Given the description of an element on the screen output the (x, y) to click on. 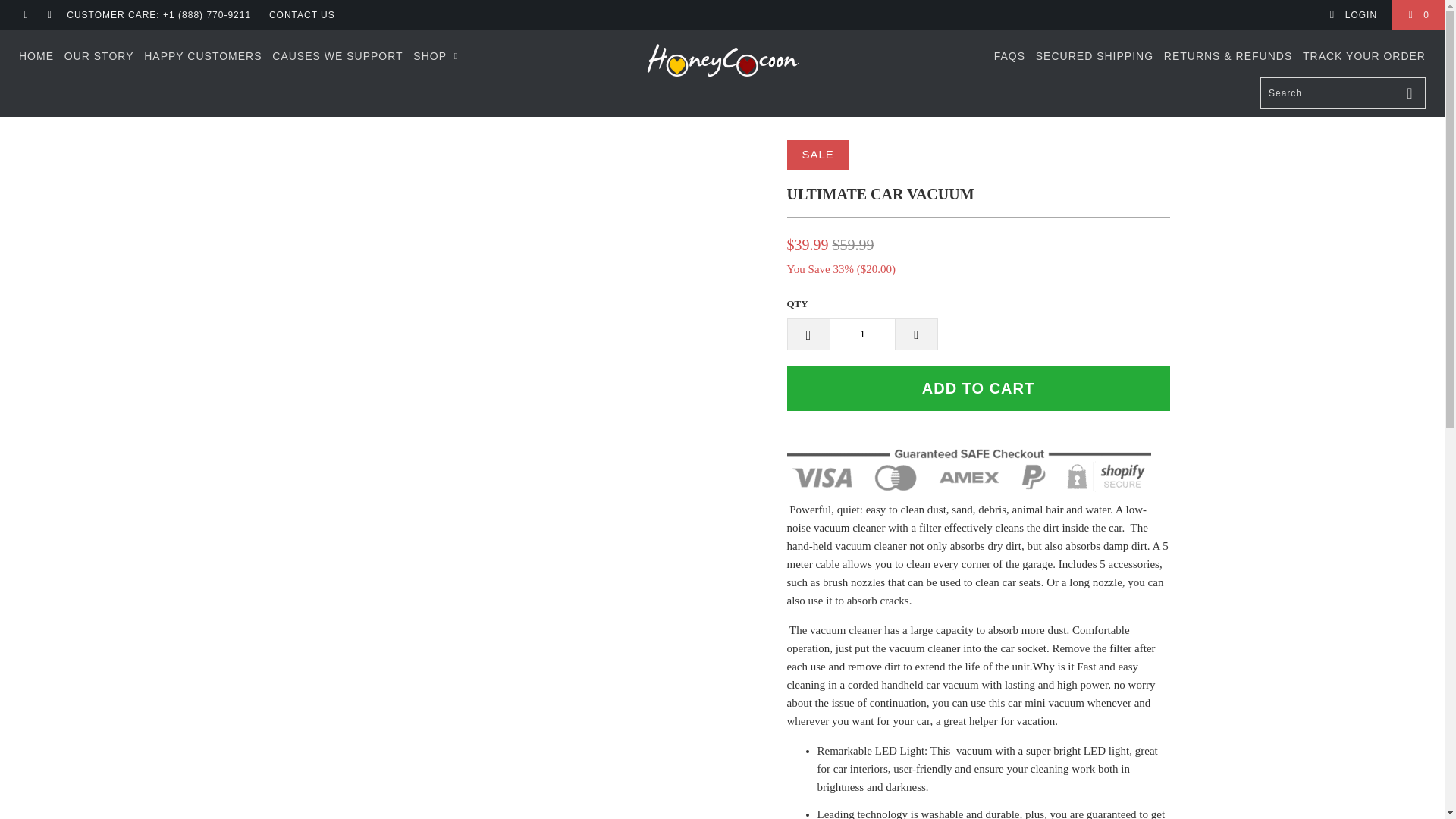
1 (862, 334)
HoneyCocoon on Facebook (25, 14)
Email HoneyCocoon (48, 14)
CONTACT US (301, 15)
My Account  (1352, 15)
HoneyCocoon (722, 60)
